Given the description of an element on the screen output the (x, y) to click on. 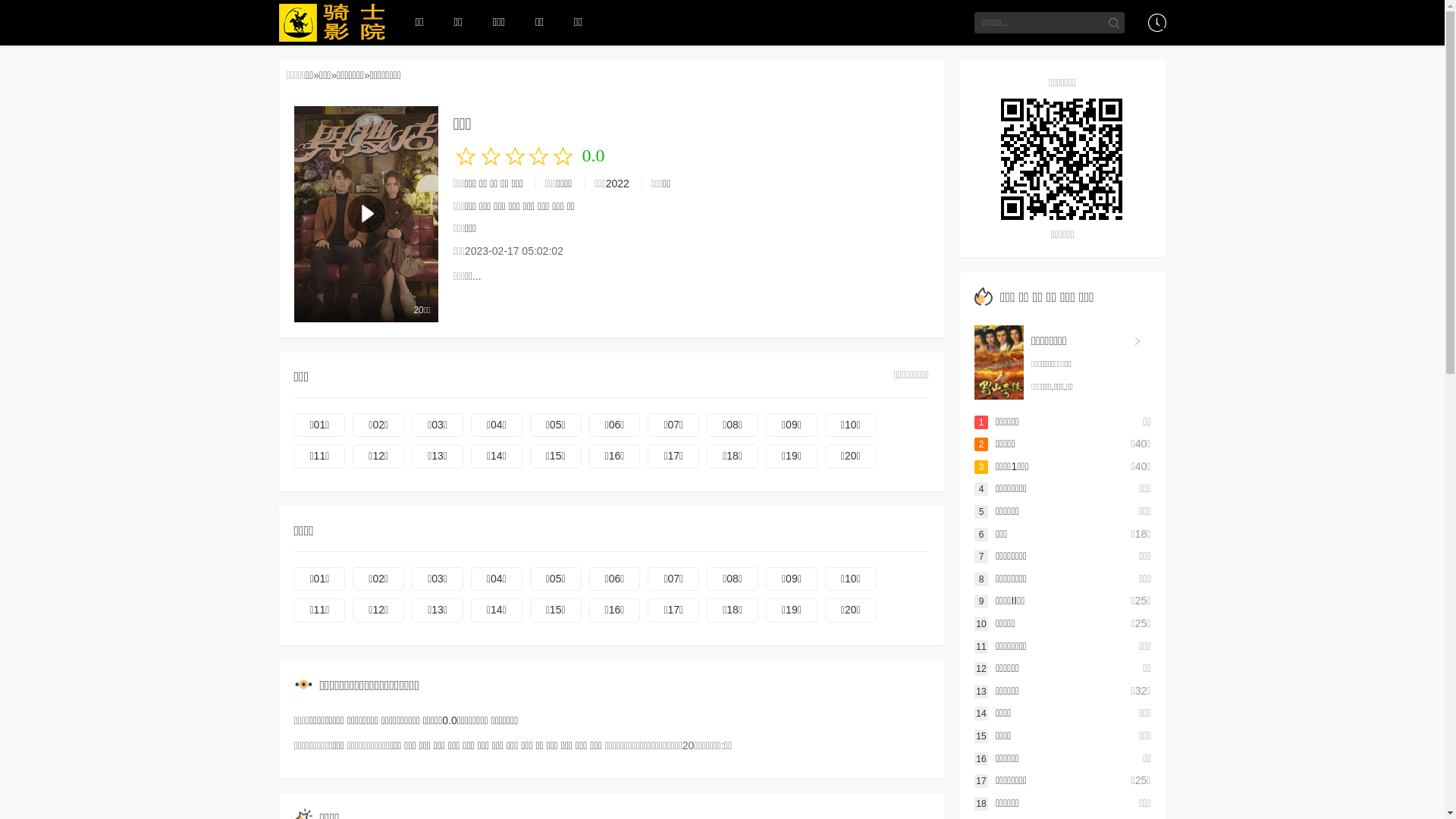
http://www.knight74.cc/voddetail/96212/ Element type: hover (1062, 158)
2022 Element type: text (617, 183)
